Given the description of an element on the screen output the (x, y) to click on. 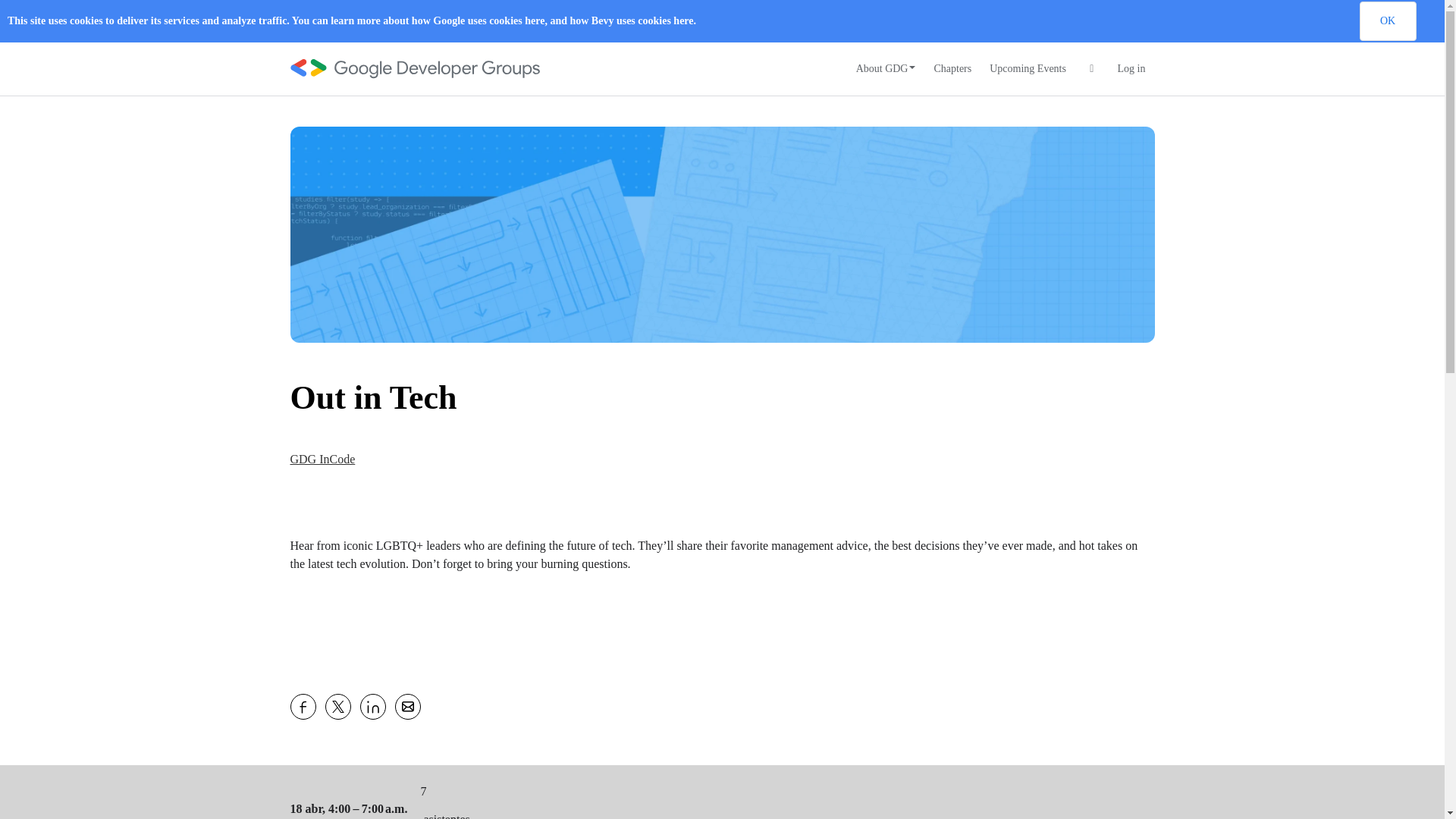
GDG InCode (322, 459)
here (534, 20)
OK (1386, 20)
About GDG (885, 68)
Chapters (951, 68)
Upcoming Events (1027, 68)
here (682, 20)
